Given the description of an element on the screen output the (x, y) to click on. 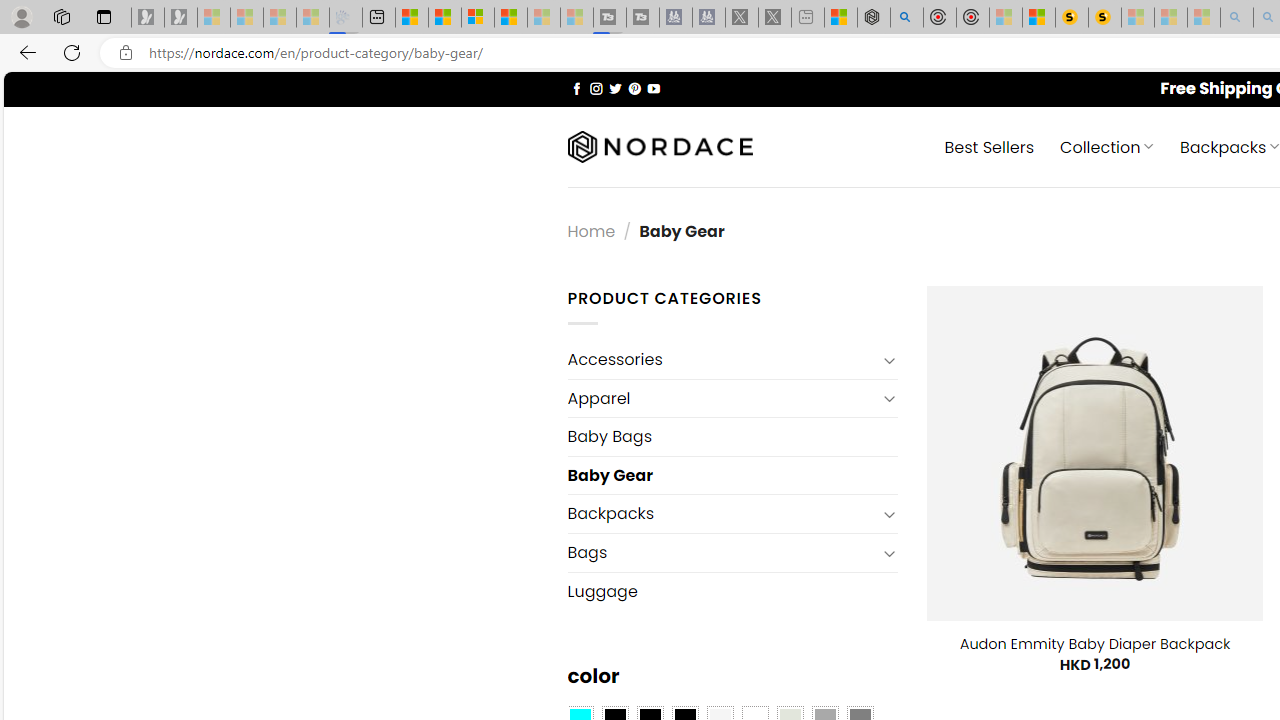
Luggage (732, 591)
Baby Gear (732, 475)
Baby Gear (732, 475)
